Given the description of an element on the screen output the (x, y) to click on. 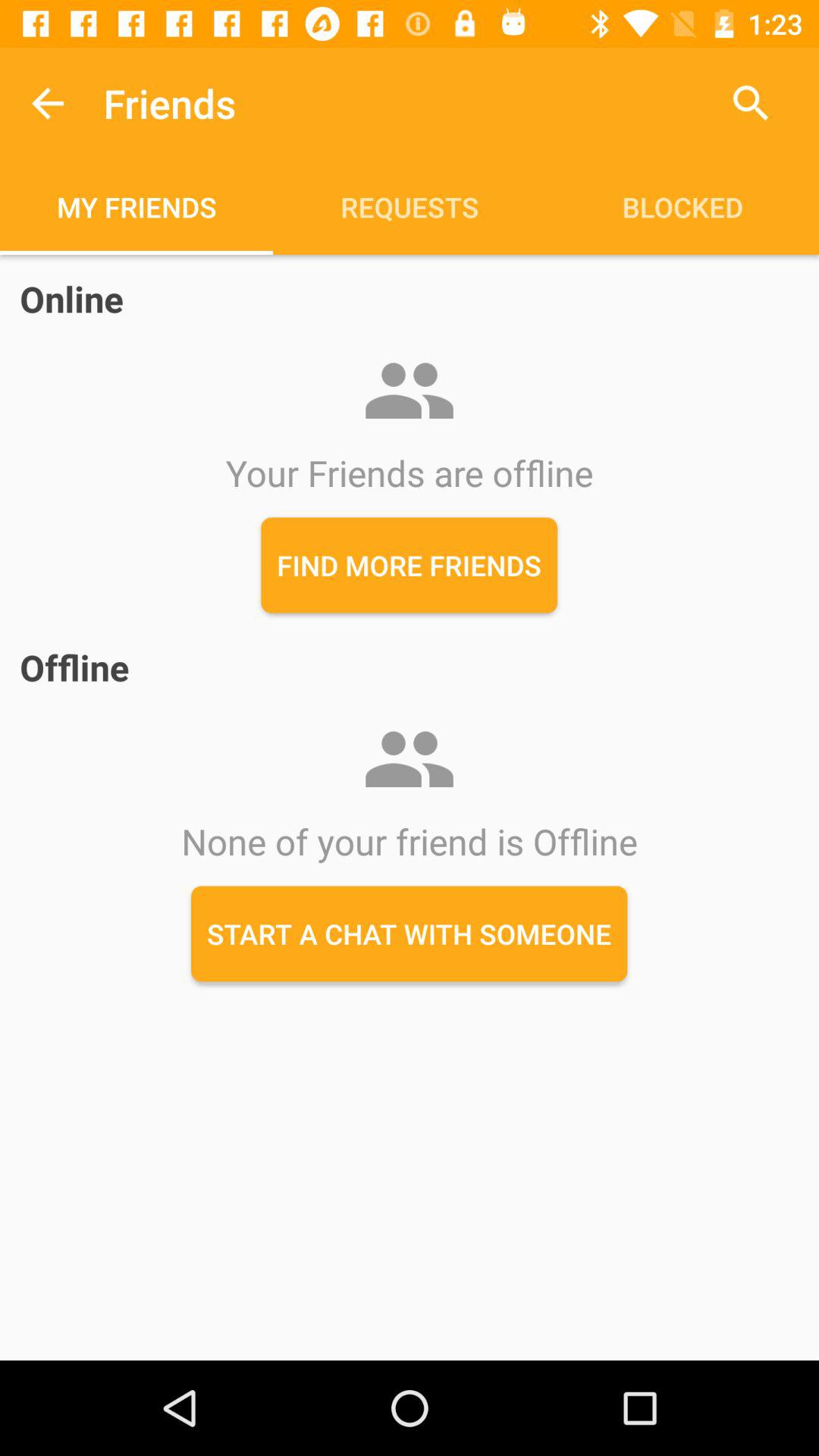
turn on the start a chat (409, 933)
